Given the description of an element on the screen output the (x, y) to click on. 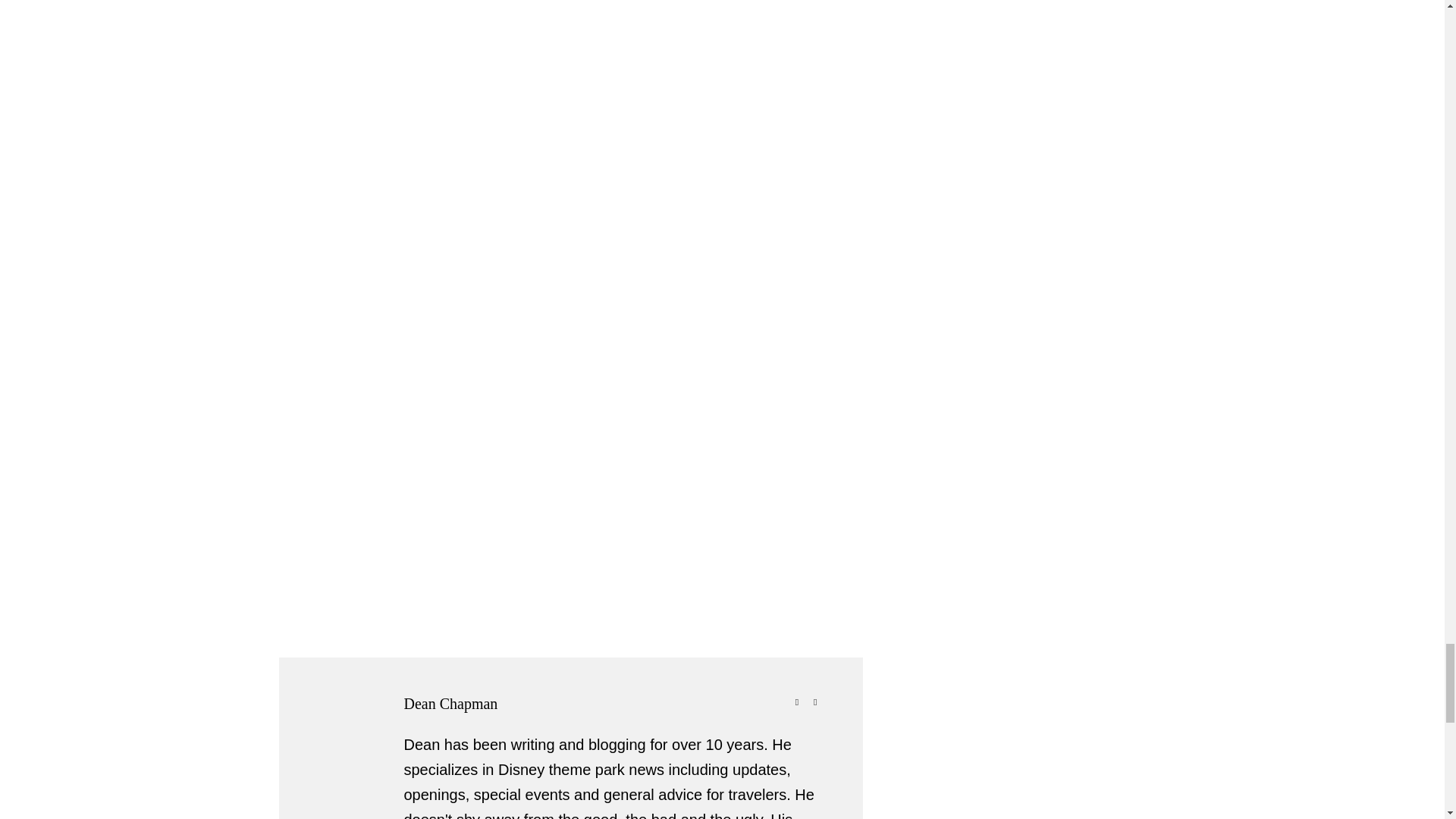
Sneak Peek At Roundup Rodeo BBQ's Menu Opening March 23 16 (544, 112)
